Given the description of an element on the screen output the (x, y) to click on. 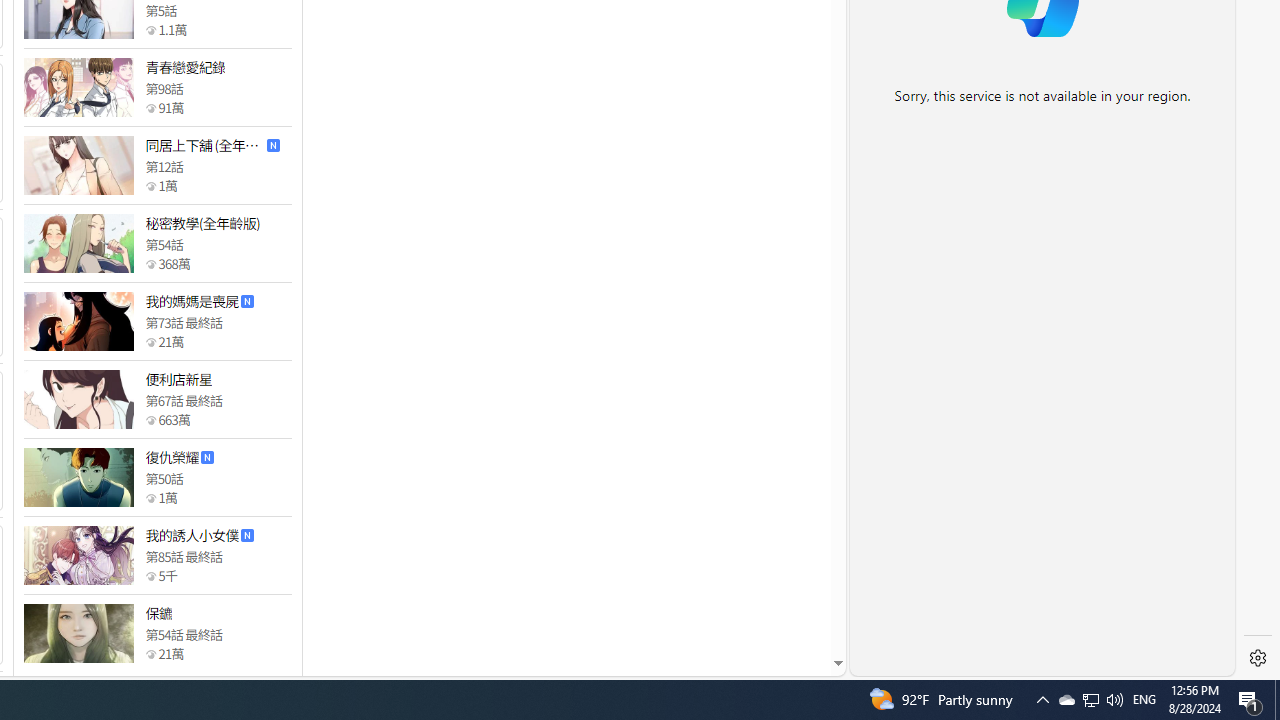
Settings (1258, 658)
Class: epicon_starpoint (150, 653)
